Given the description of an element on the screen output the (x, y) to click on. 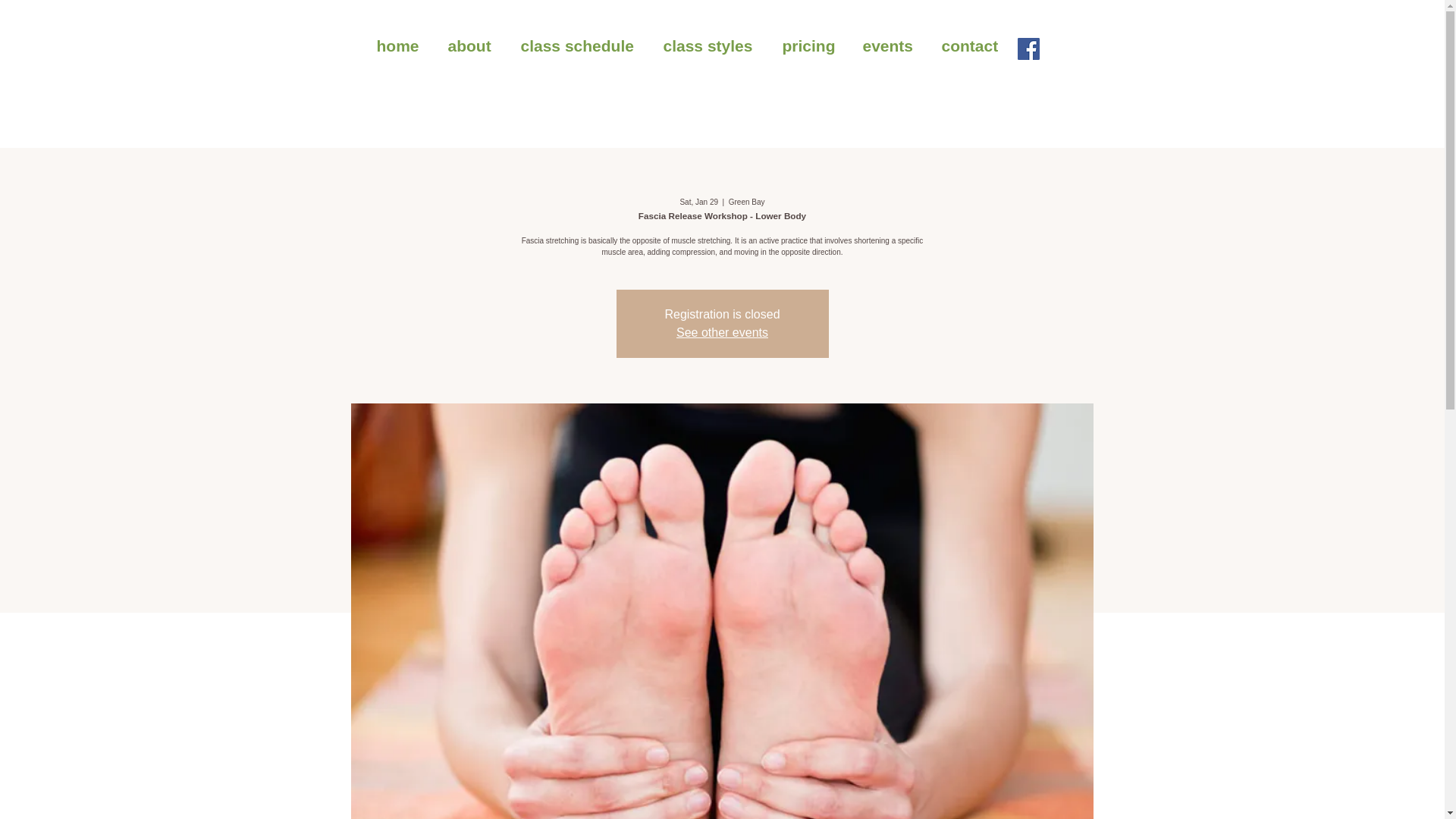
contact (973, 45)
events (890, 45)
pricing (810, 45)
about (472, 45)
home (400, 45)
class styles (711, 45)
class schedule (580, 45)
See other events (722, 332)
